Given the description of an element on the screen output the (x, y) to click on. 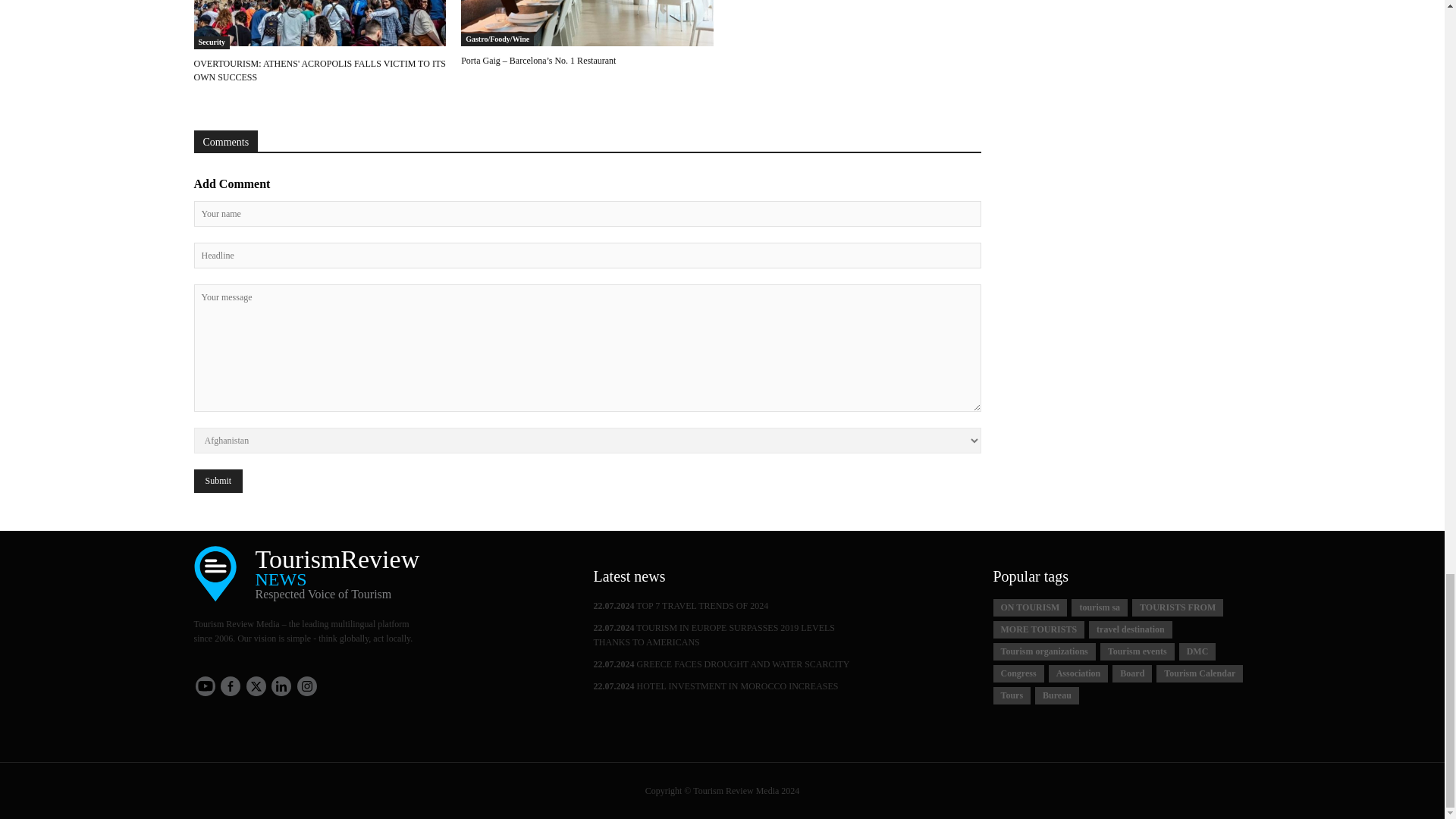
Submit (218, 481)
